Given the description of an element on the screen output the (x, y) to click on. 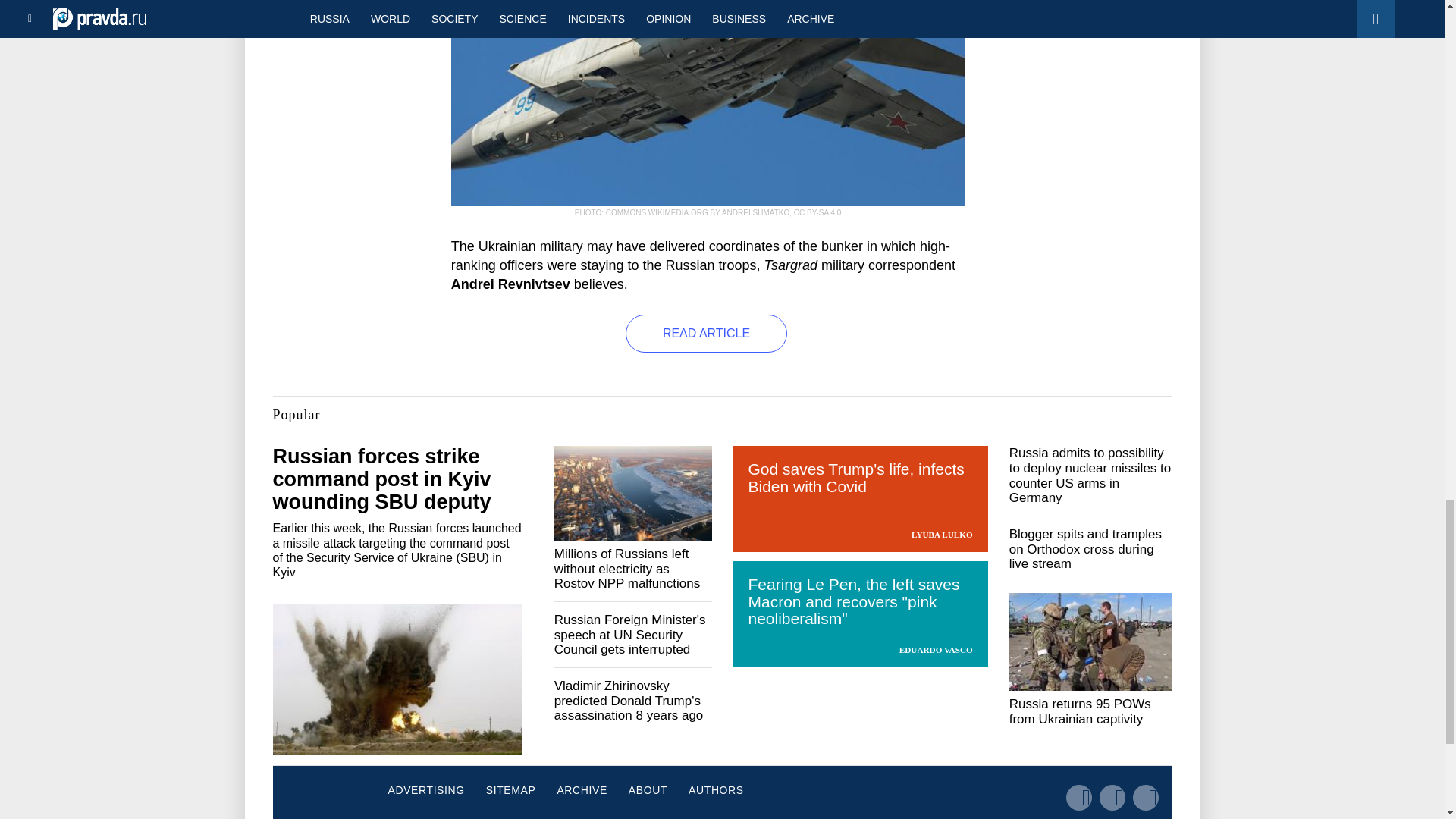
Russian forces annihilate bunker of Ukrainian generals (708, 102)
